Given the description of an element on the screen output the (x, y) to click on. 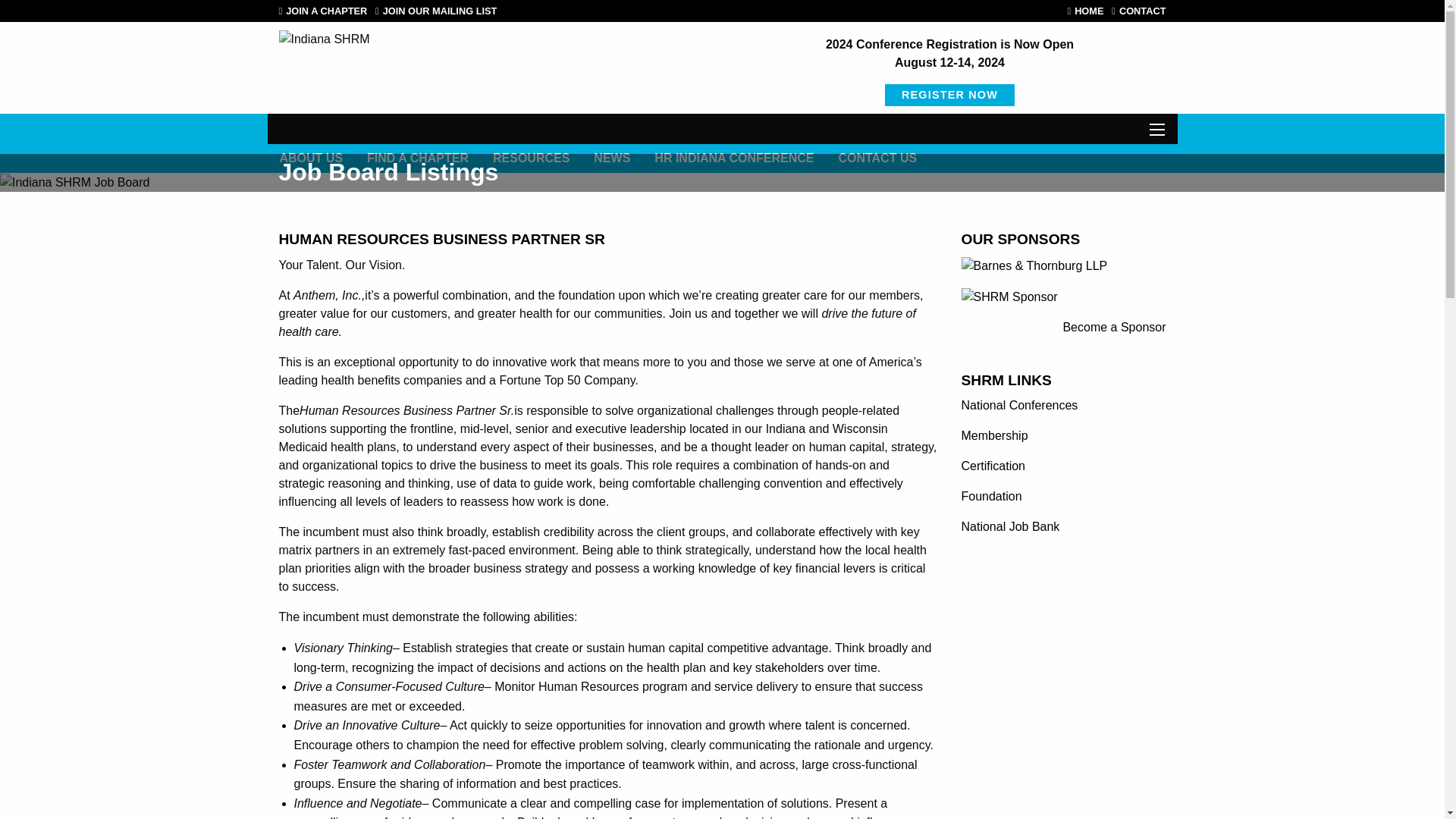
JOIN OUR MAILING LIST (439, 10)
HR INDIANA CONFERENCE (733, 158)
JOIN A CHAPTER (325, 10)
CONTACT US (876, 158)
Indiana SHRM Board (74, 182)
FIND A CHAPTER (417, 158)
Indiana SHRM (324, 39)
CONTACT (1142, 10)
REGISTER NOW (949, 95)
HOME (1088, 10)
